Given the description of an element on the screen output the (x, y) to click on. 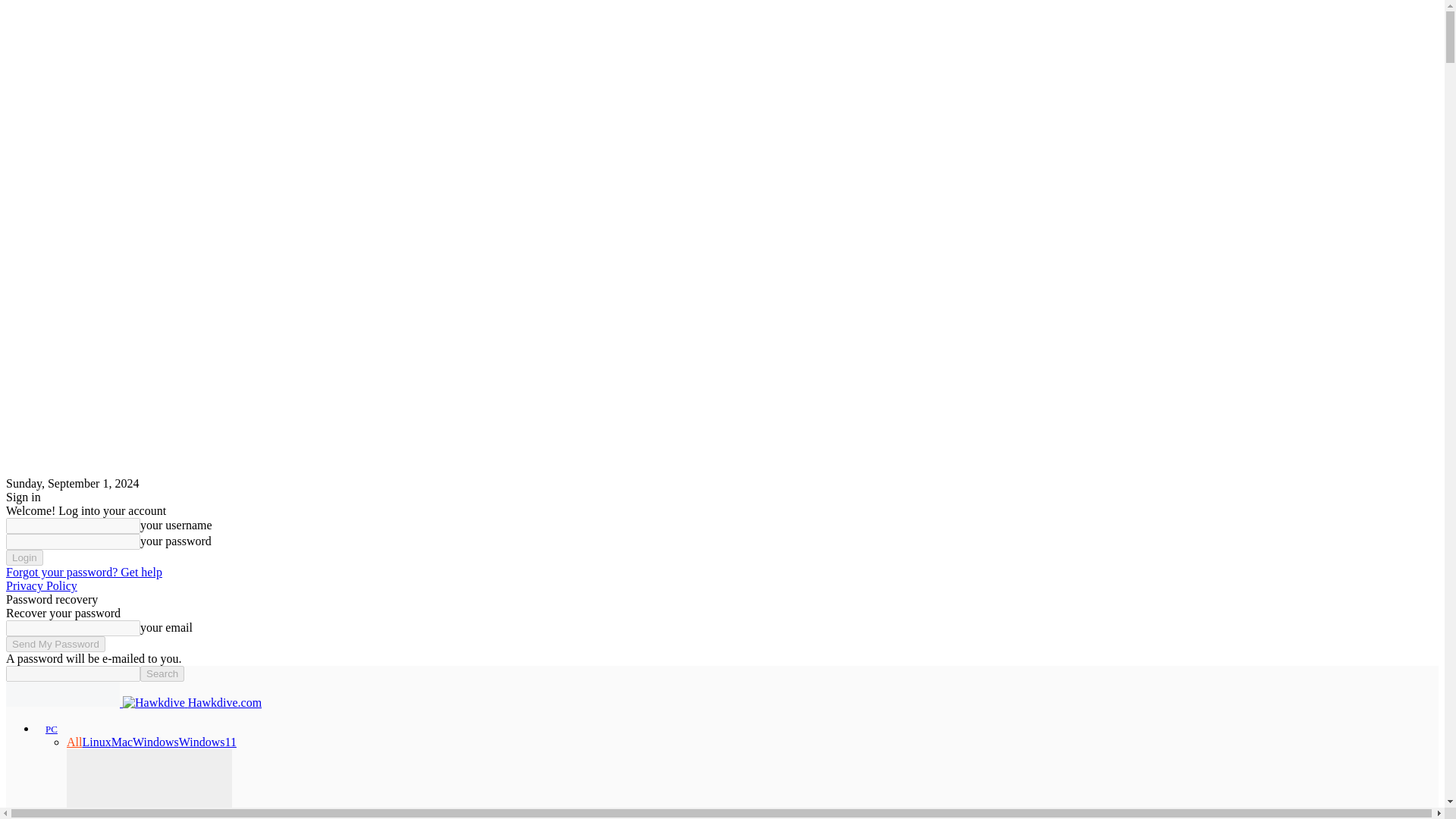
Send My Password (54, 643)
Login (24, 557)
Search (161, 673)
Hawkdive (62, 693)
